Given the description of an element on the screen output the (x, y) to click on. 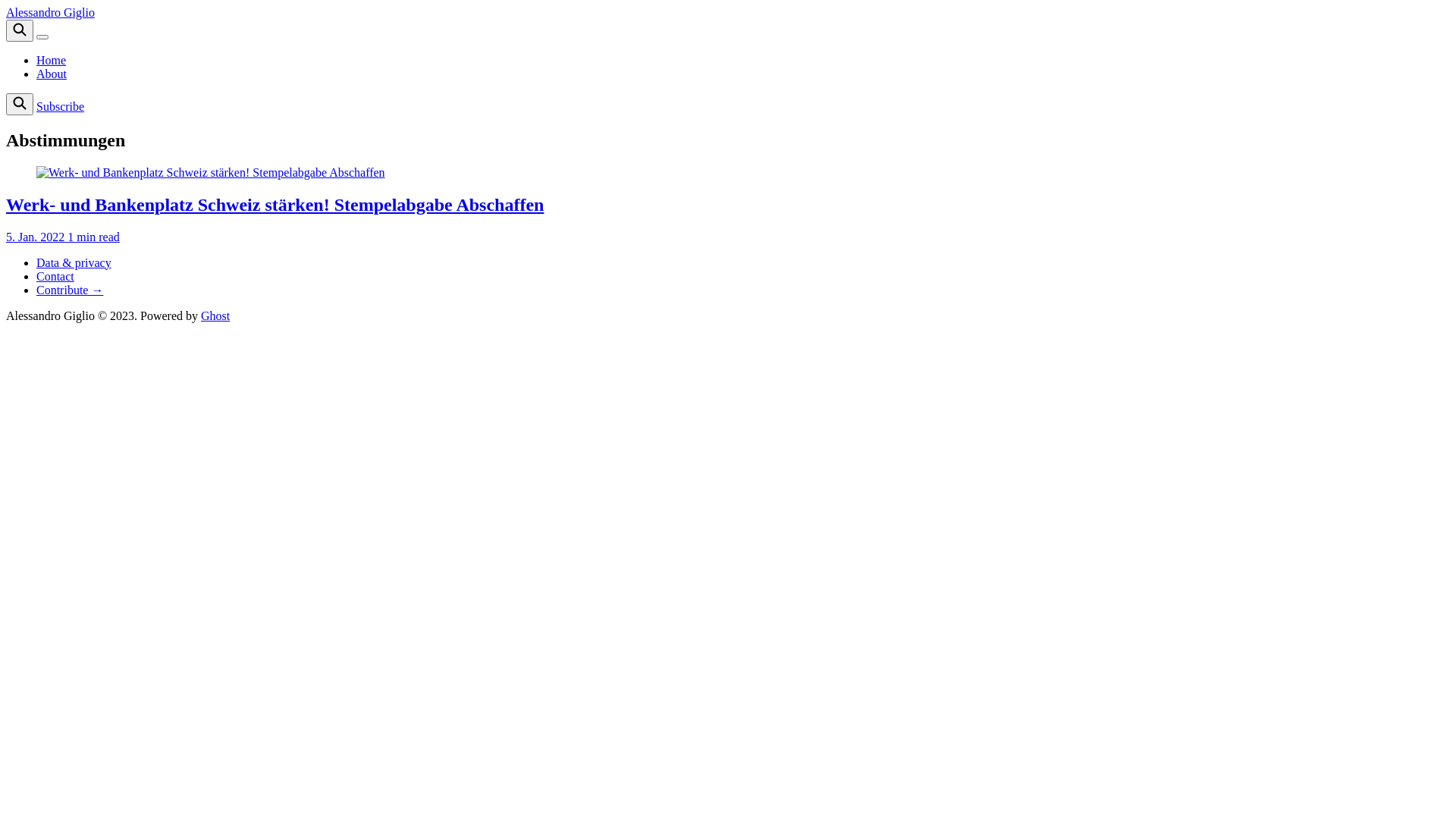
Subscribe Element type: text (60, 106)
Data & privacy Element type: text (73, 262)
About Element type: text (51, 73)
Ghost Element type: text (214, 315)
Alessandro Giglio Element type: text (50, 12)
Home Element type: text (50, 59)
Contact Element type: text (55, 275)
